Given the description of an element on the screen output the (x, y) to click on. 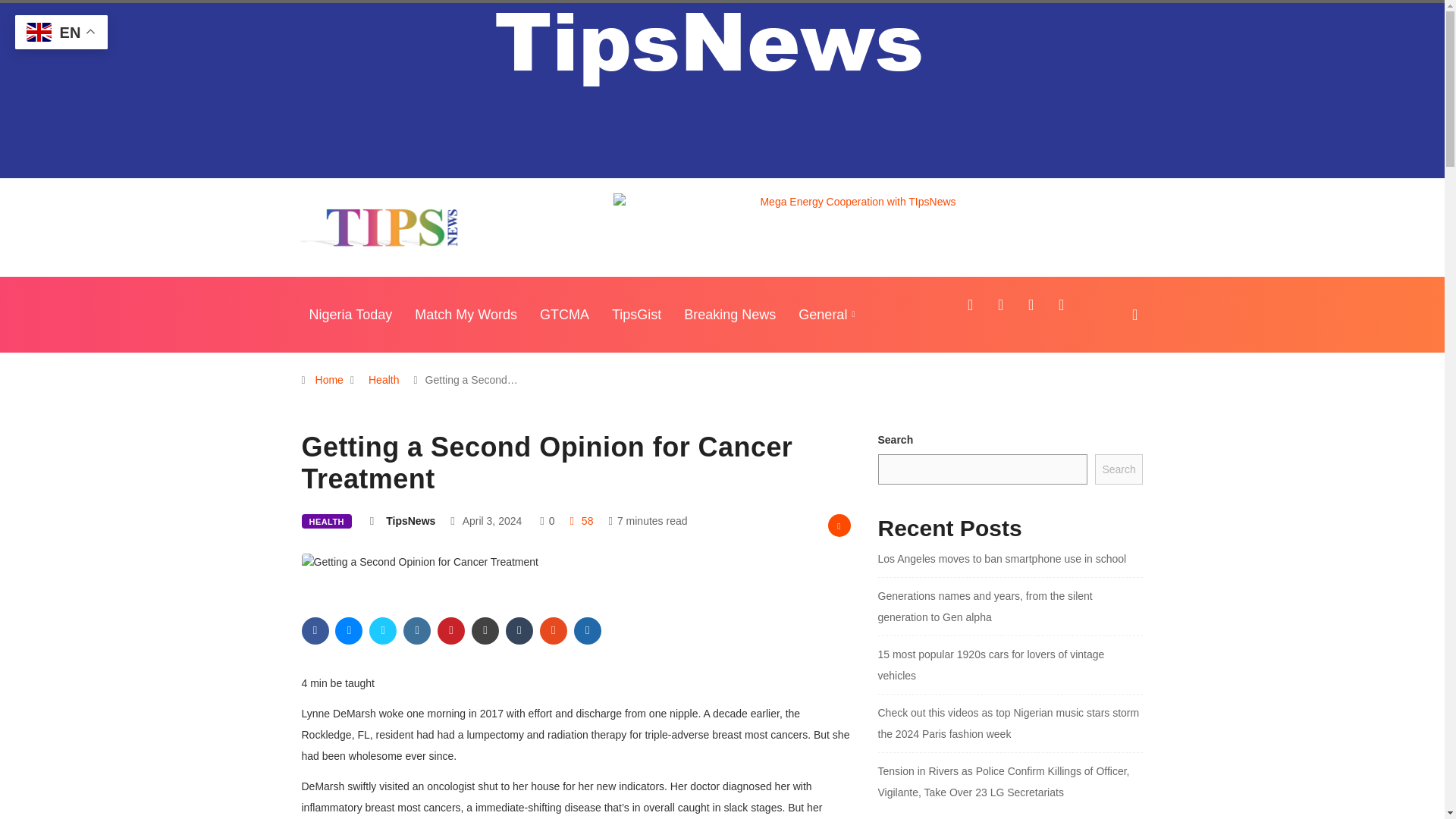
Share on Digg  (587, 630)
Share on Messenger  (348, 630)
General (828, 314)
Breaking News (729, 314)
Share on Facebook  (315, 630)
Health (383, 379)
Nigeria Today (350, 314)
HEALTH (326, 521)
TipsNews (410, 521)
Share on Email  (485, 630)
Share on Reddit  (553, 630)
Match My Words (465, 314)
Home (329, 379)
Share on Pinterest  (451, 630)
Share on Tumblr  (518, 630)
